Given the description of an element on the screen output the (x, y) to click on. 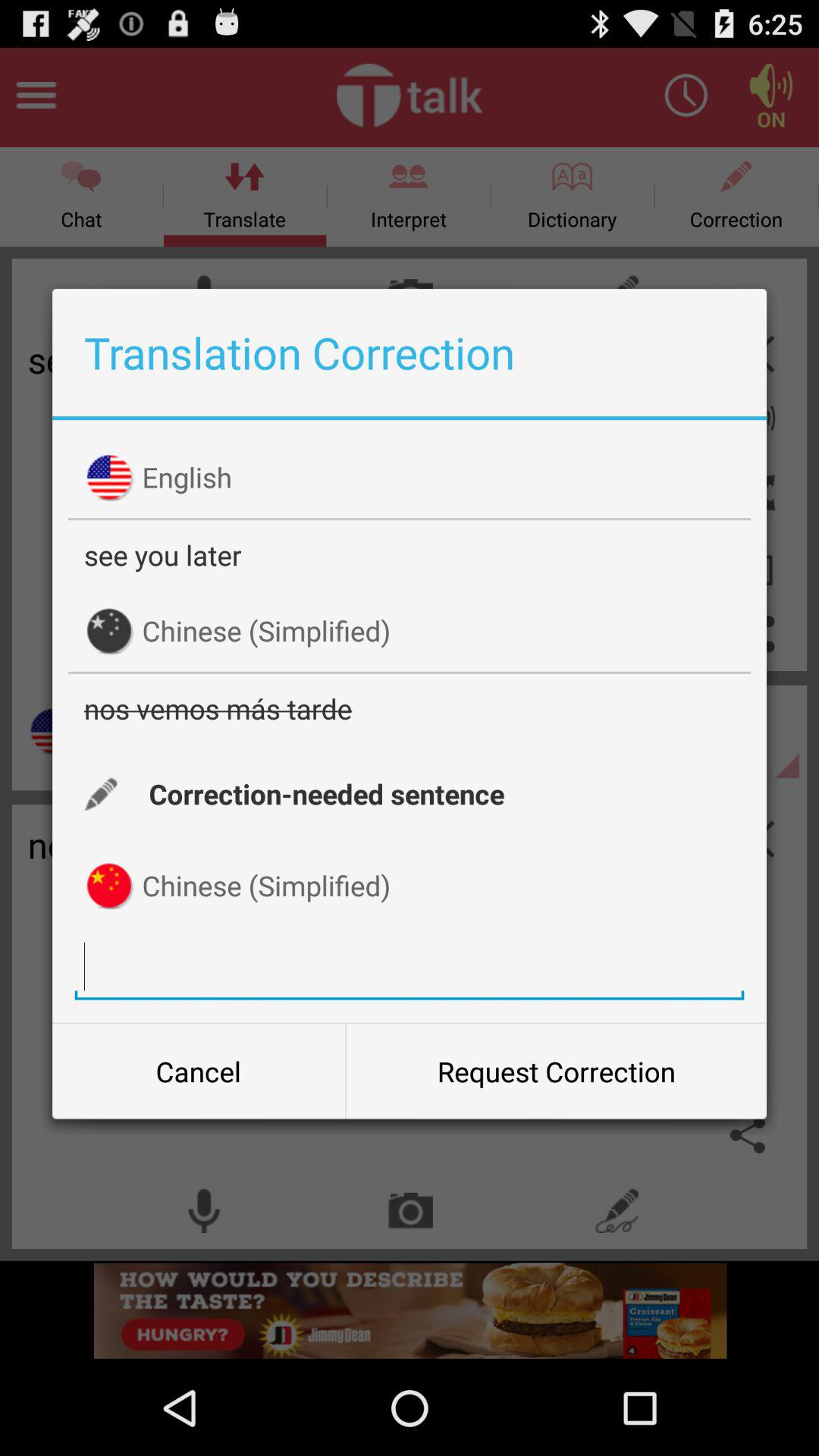
text box (409, 966)
